Given the description of an element on the screen output the (x, y) to click on. 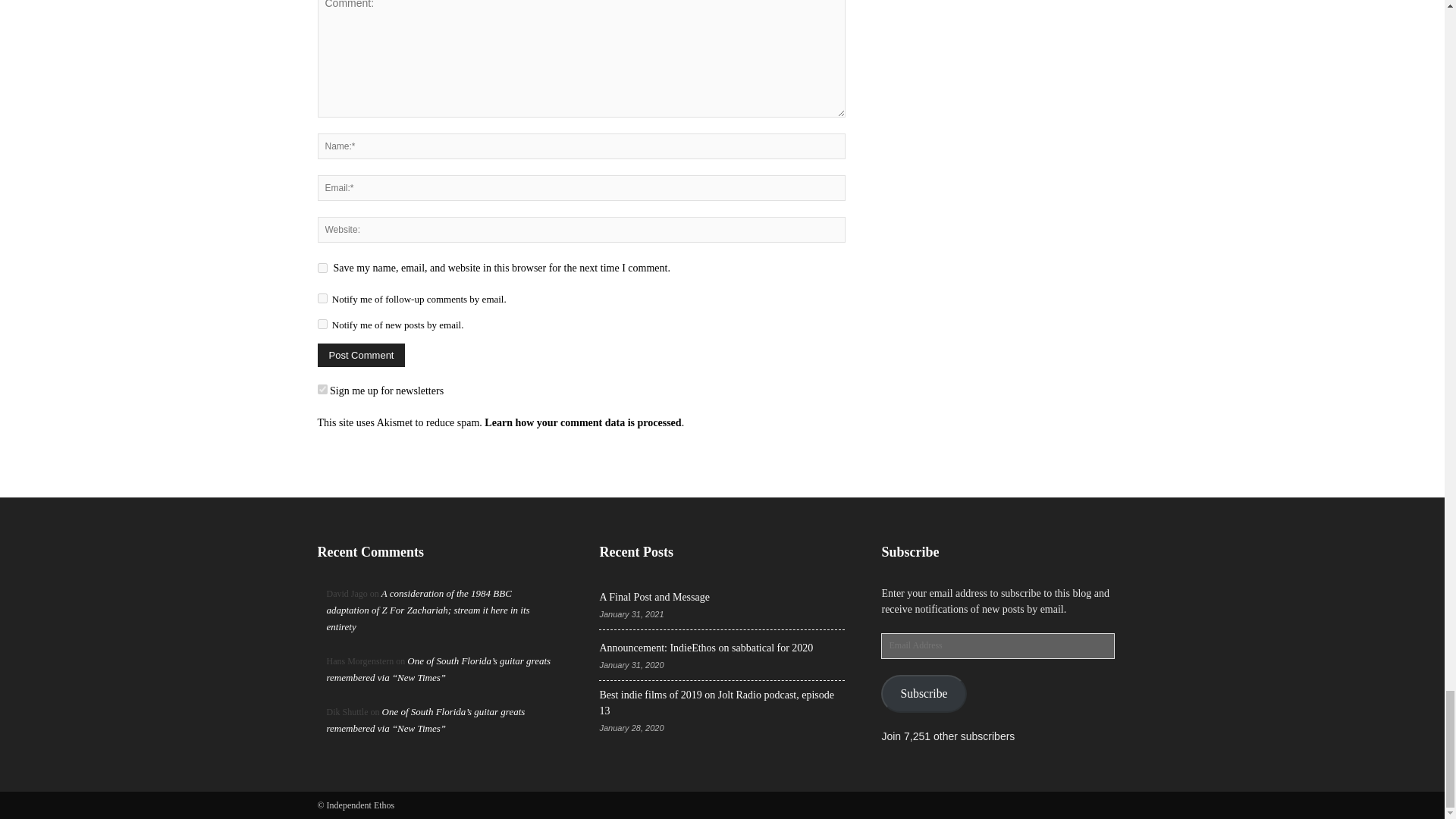
yes (321, 267)
subscribe (321, 298)
on (321, 388)
subscribe (321, 324)
Post Comment (360, 354)
